Given the description of an element on the screen output the (x, y) to click on. 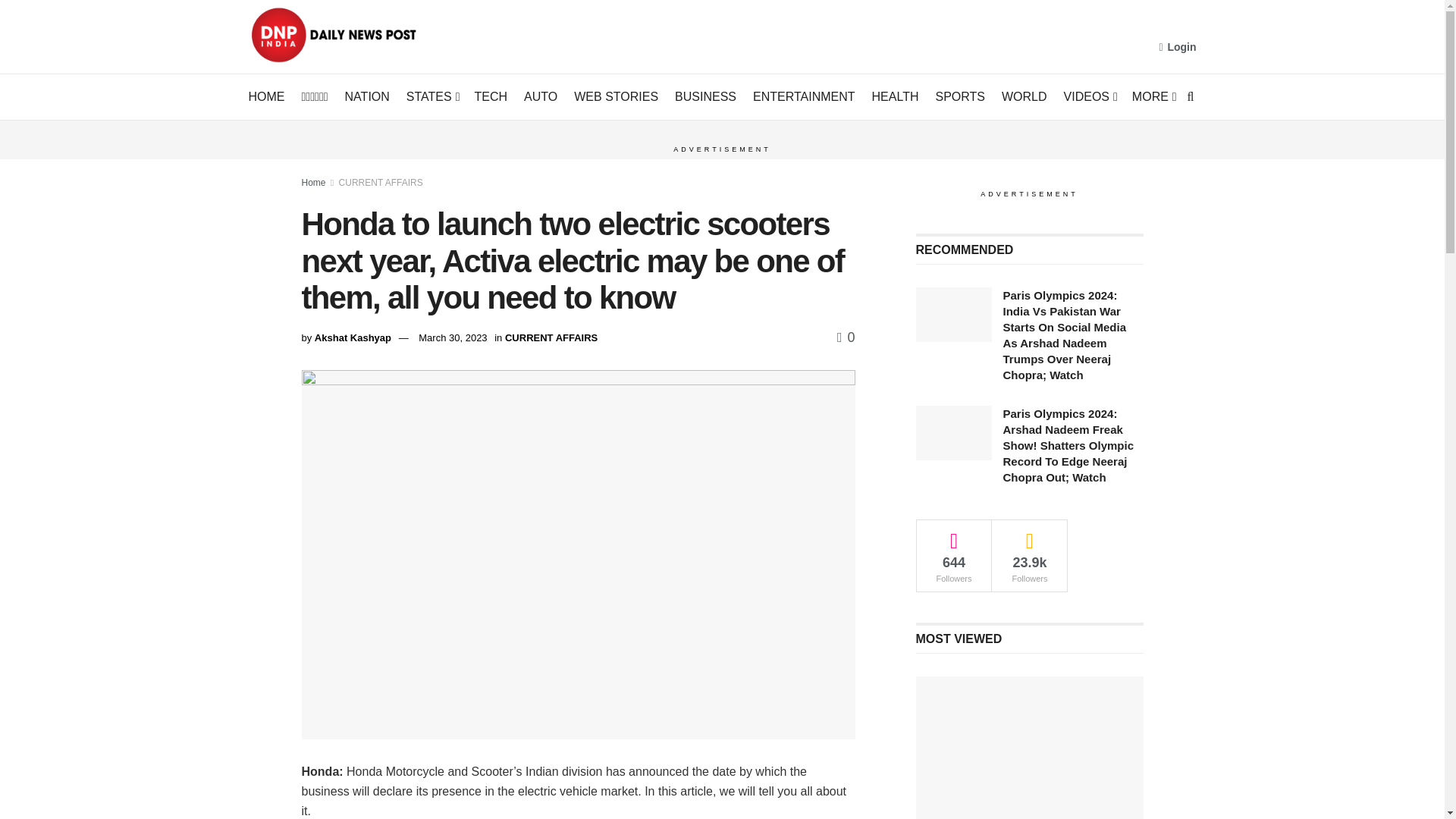
Login (1176, 46)
SPORTS (959, 96)
STATES (432, 96)
WEB STORIES (615, 96)
NATION (367, 96)
TECH (491, 96)
ENTERTAINMENT (804, 96)
MORE (1153, 96)
HEALTH (895, 96)
VIDEOS (1089, 96)
